Given the description of an element on the screen output the (x, y) to click on. 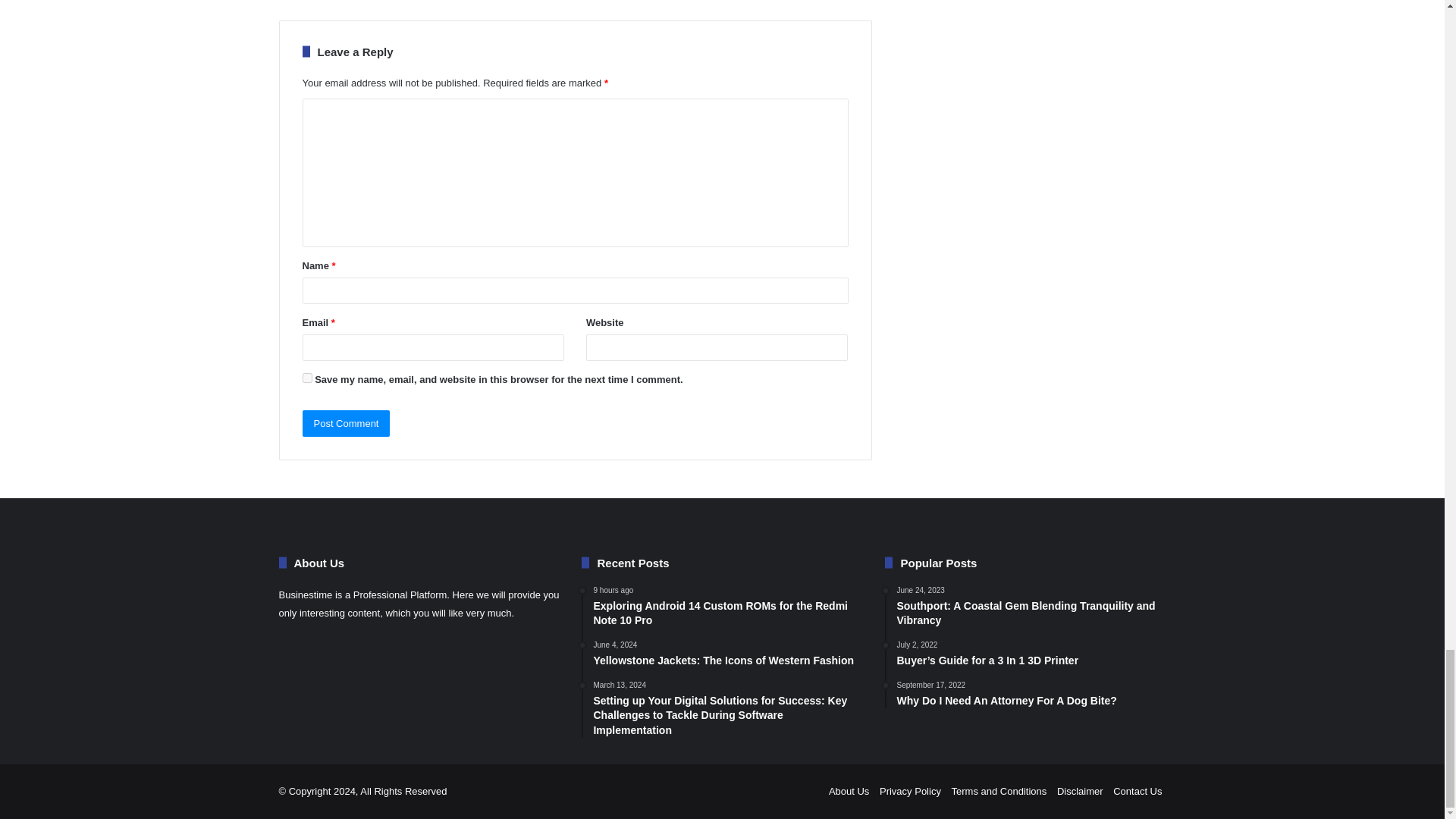
Post Comment (345, 423)
yes (306, 378)
